Given the description of an element on the screen output the (x, y) to click on. 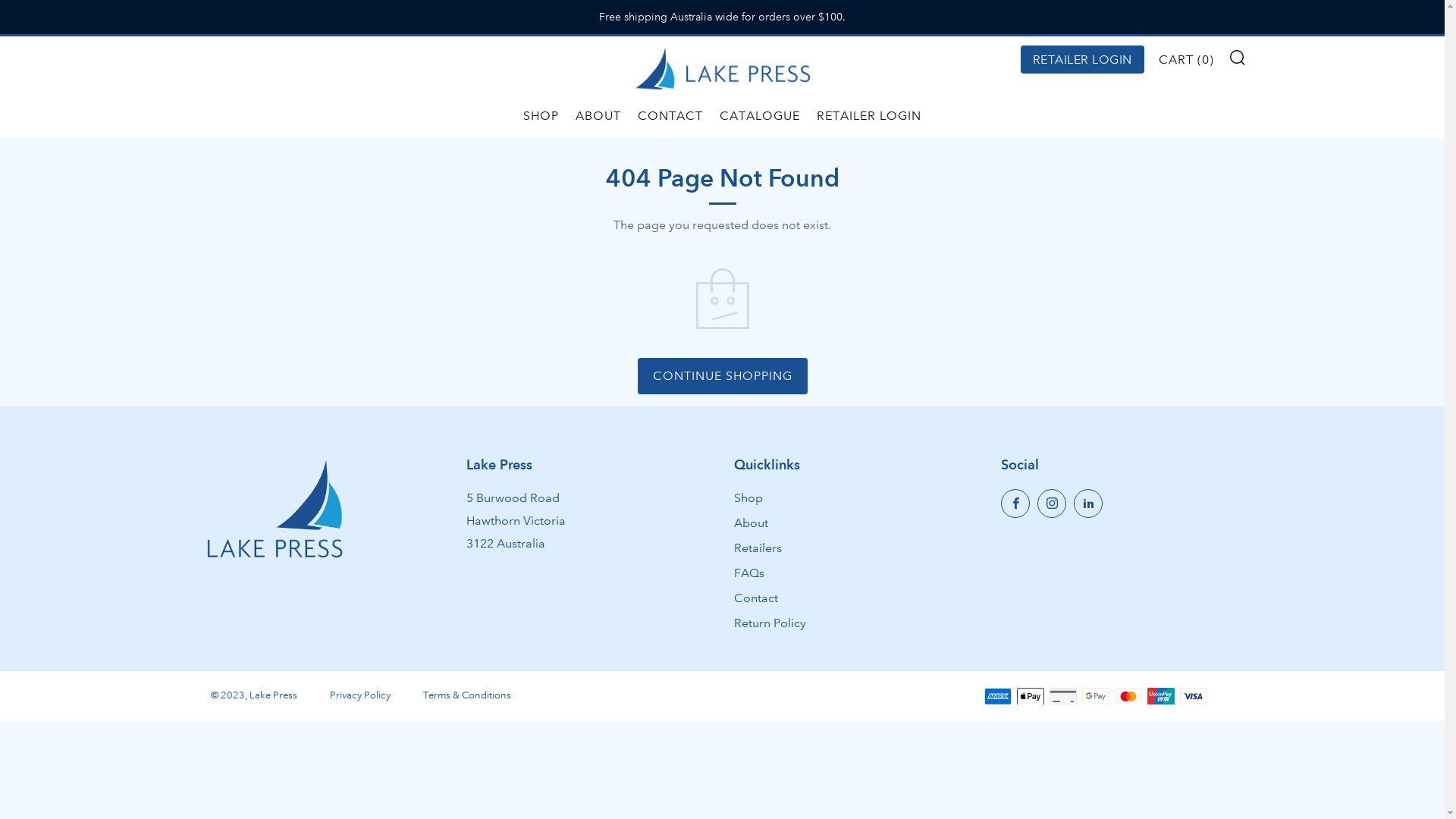
Retailers Element type: text (757, 547)
Return Policy Element type: text (770, 622)
RETAILER LOGIN Element type: text (868, 115)
Privacy Policy Element type: text (359, 695)
Terms & Conditions Element type: text (467, 695)
ABOUT Element type: text (598, 115)
CATALOGUE Element type: text (759, 115)
CART (0) Element type: text (1186, 59)
CONTACT Element type: text (669, 115)
RETAILER LOGIN Element type: text (1082, 59)
About Element type: text (751, 522)
Facebook Element type: text (1015, 503)
SHOP Element type: text (540, 115)
LinkedIn Element type: text (1087, 503)
CONTINUE SHOPPING Element type: text (721, 375)
SEARCH Element type: text (1236, 56)
FAQs Element type: text (749, 572)
Instagram Element type: text (1051, 503)
Contact Element type: text (756, 597)
Shop Element type: text (748, 497)
